Given the description of an element on the screen output the (x, y) to click on. 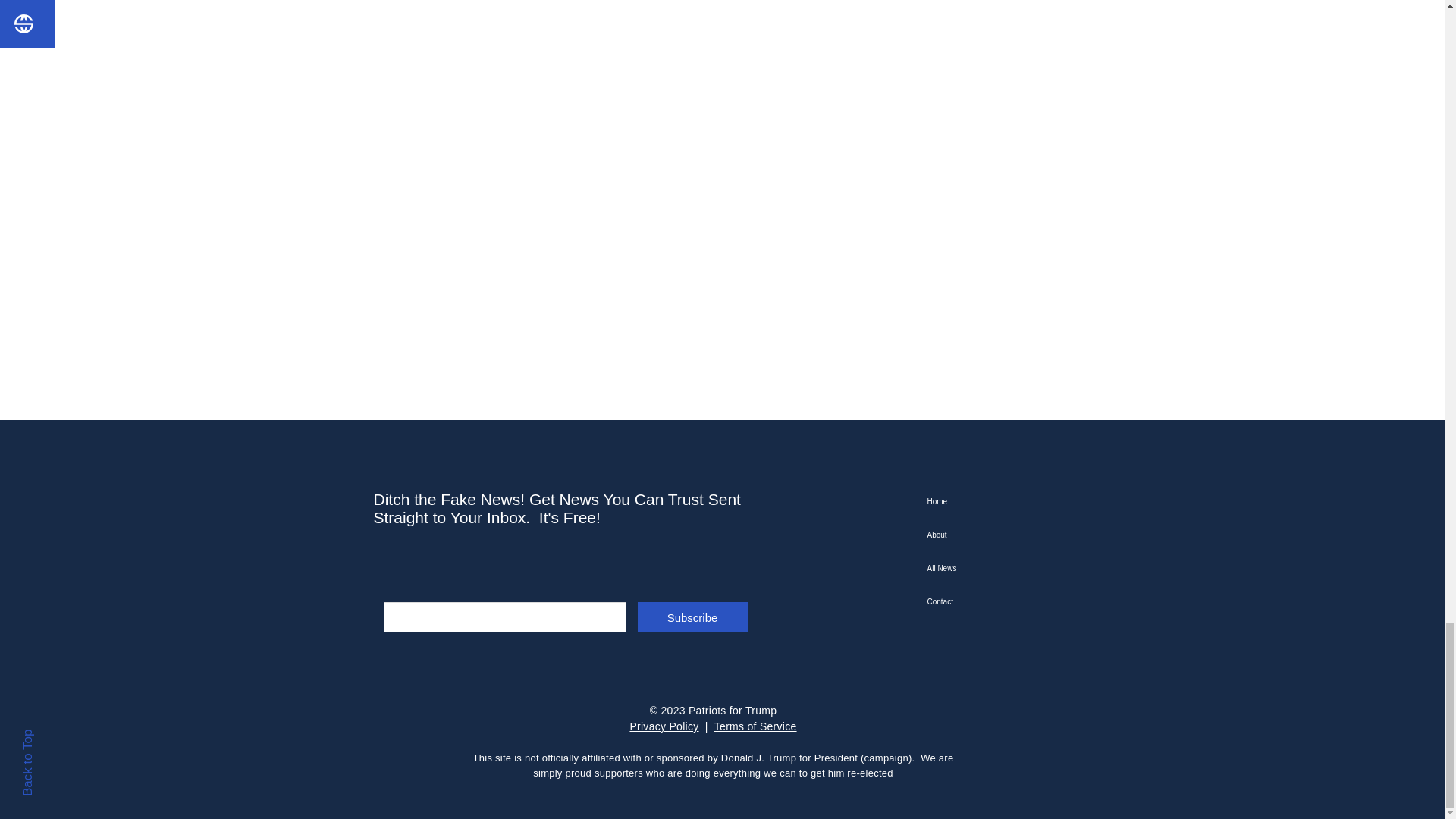
All News (1001, 568)
Contact (1001, 602)
Home (1001, 501)
Subscribe (691, 616)
About (1001, 535)
